Given the description of an element on the screen output the (x, y) to click on. 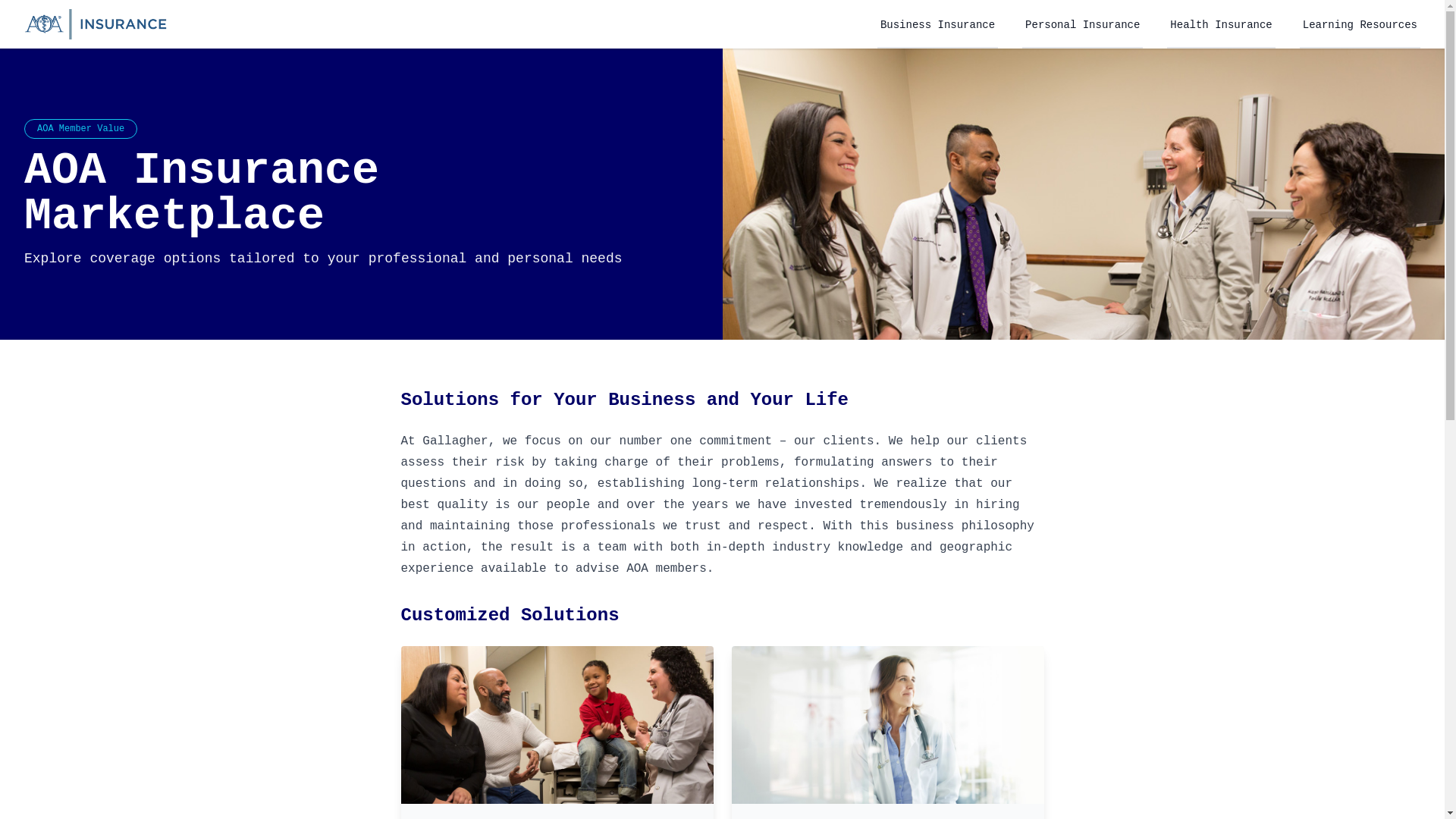
Personal Insurance Element type: text (1082, 24)
Learning Resources Element type: text (1359, 24)
Health Insurance Element type: text (1220, 24)
Business Insurance Element type: text (937, 24)
